Given the description of an element on the screen output the (x, y) to click on. 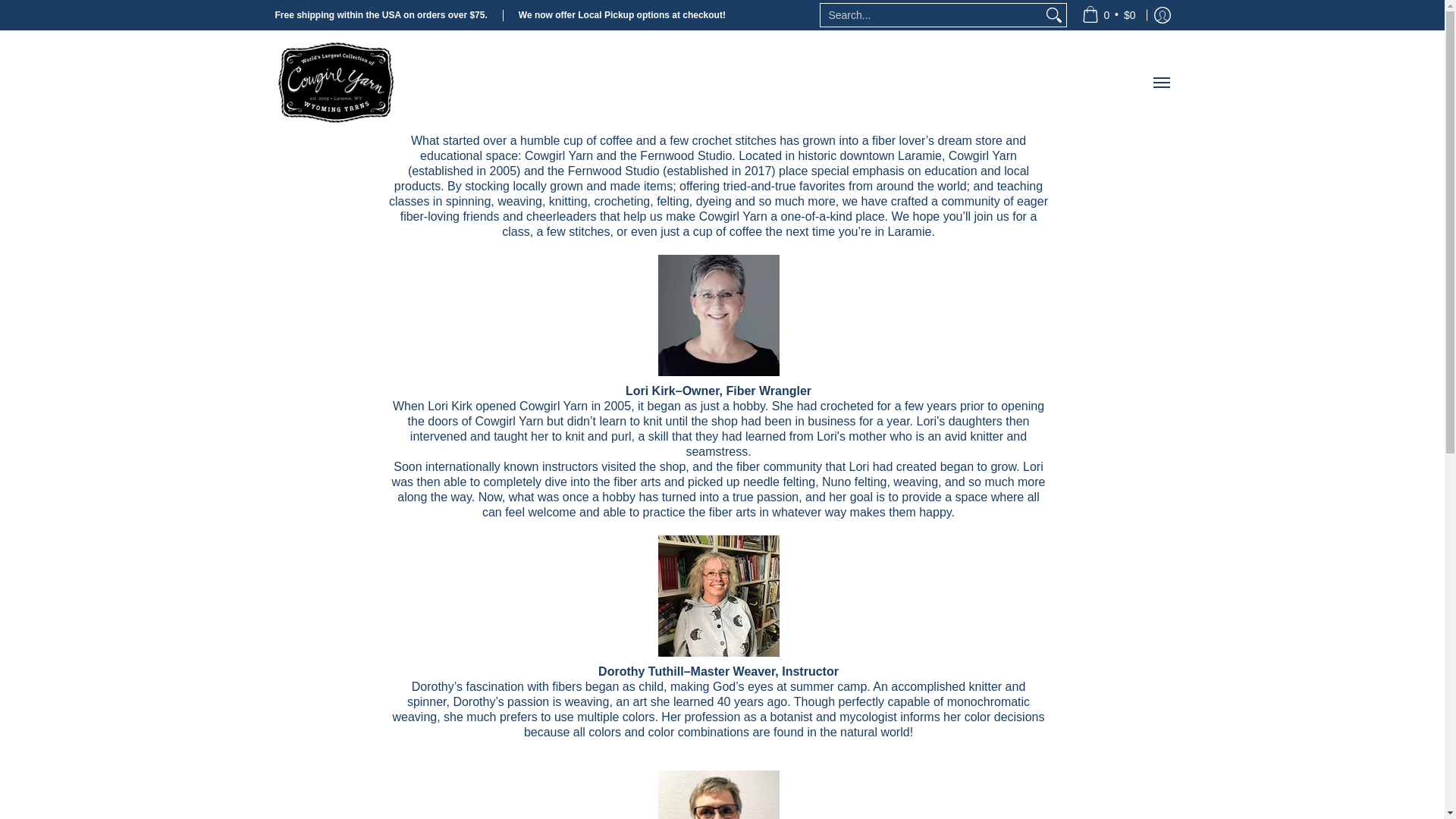
Log in (1161, 15)
Cowgirl Yarn (335, 82)
Project Bag (1108, 15)
